Given the description of an element on the screen output the (x, y) to click on. 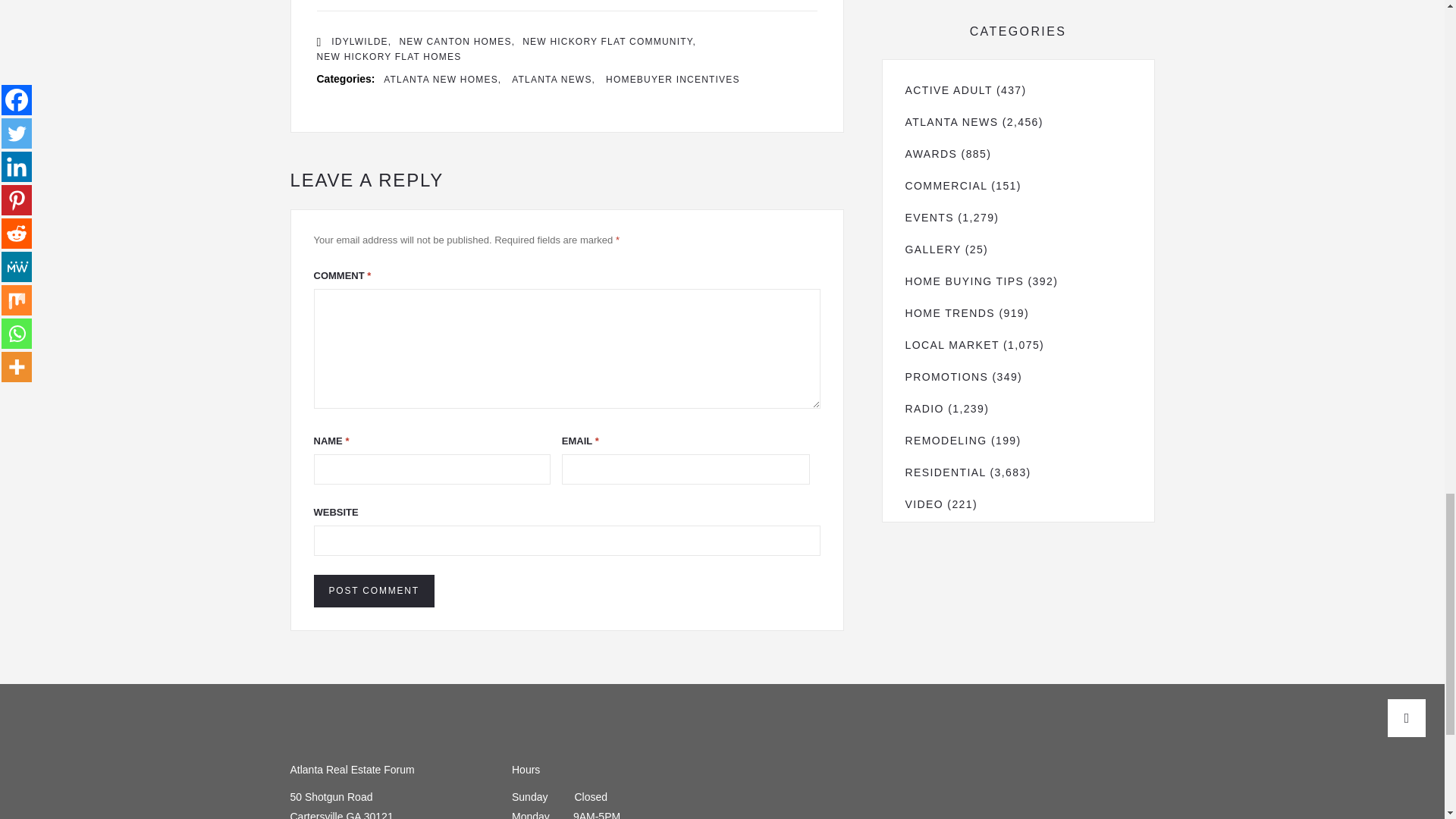
Post Comment (373, 590)
NEW HICKORY FLAT COMMUNITY (608, 42)
IDYLWILDE (361, 42)
NEW HICKORY FLAT HOMES (389, 56)
ATLANTA NEW HOMES (442, 79)
NEW CANTON HOMES (456, 42)
